Given the description of an element on the screen output the (x, y) to click on. 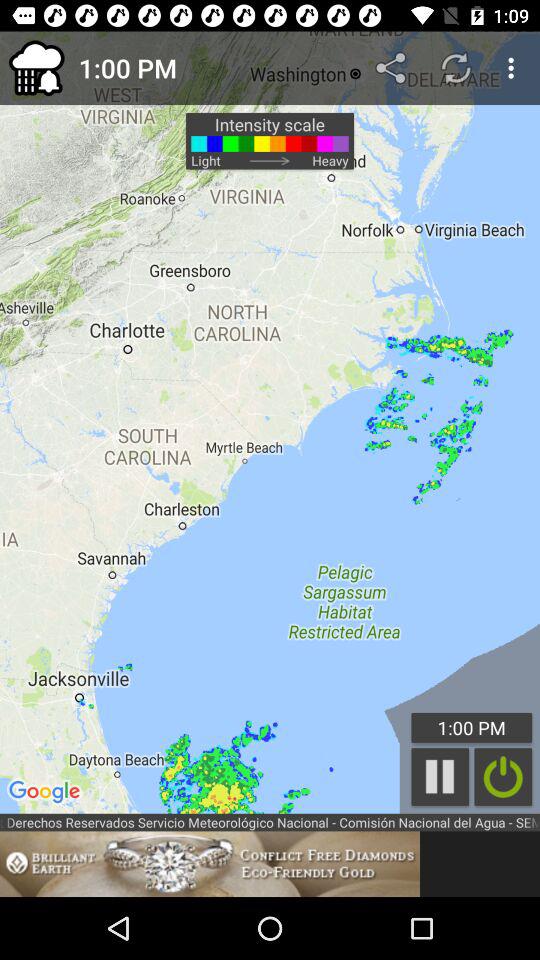
turn on the icon above the national weather service item (503, 776)
